Given the description of an element on the screen output the (x, y) to click on. 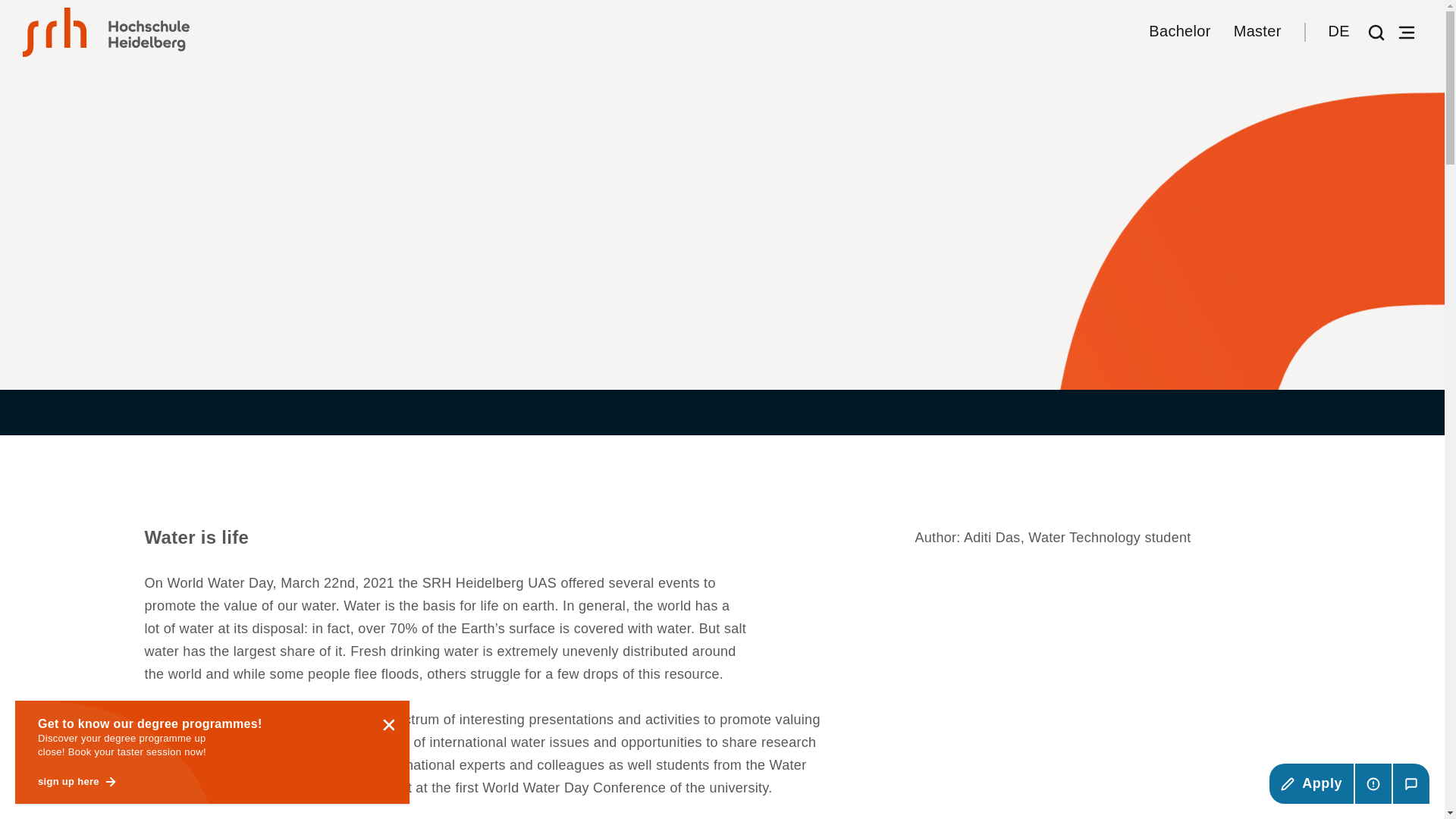
SRH Hochschule Heidelberg (106, 31)
Master (1257, 32)
Bachelor (1179, 32)
